Given the description of an element on the screen output the (x, y) to click on. 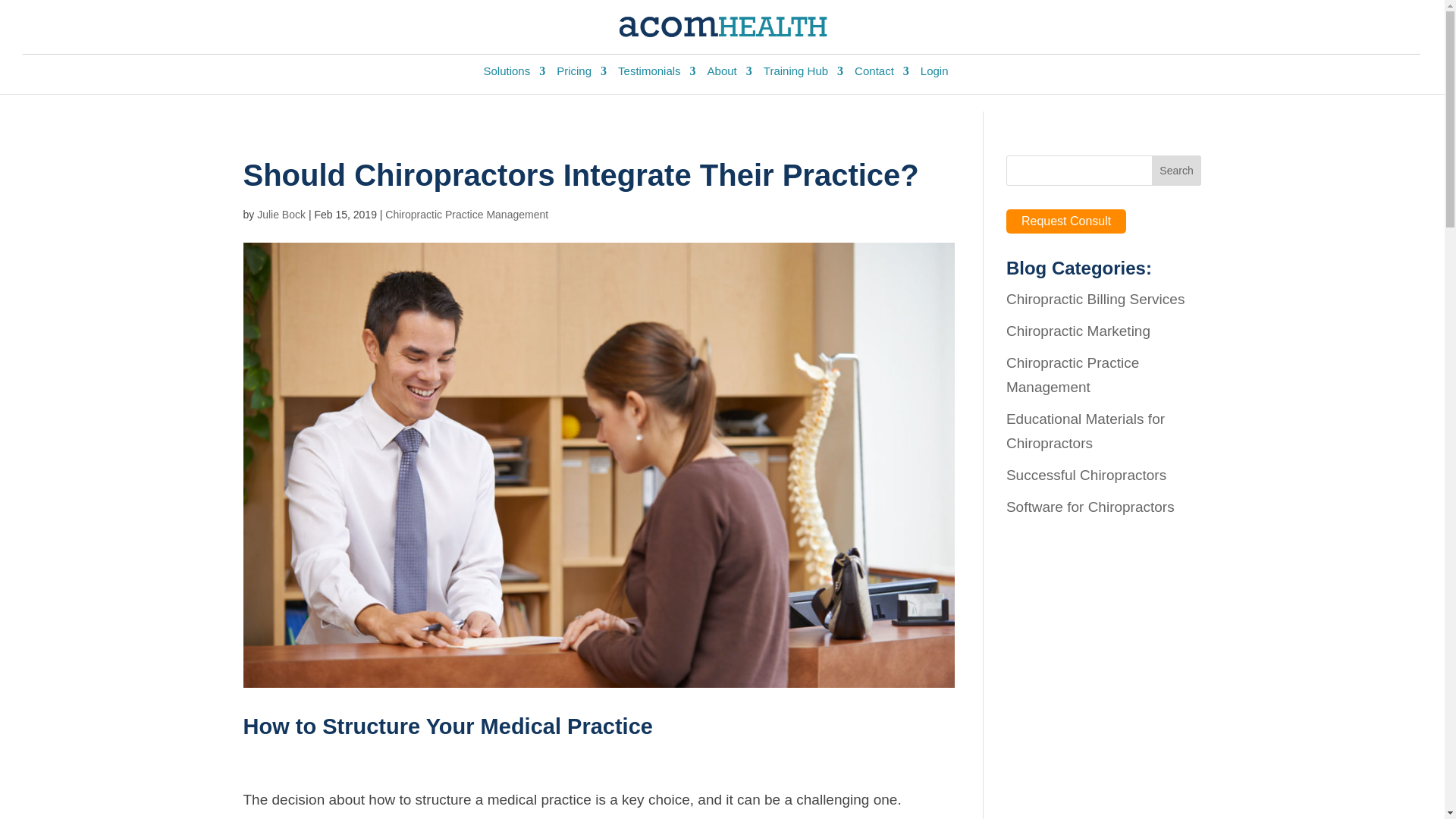
Contact (881, 76)
Pricing (581, 76)
Solutions (513, 76)
Search (1176, 170)
About (729, 76)
Login (934, 76)
Testimonials (656, 76)
Posts by Julie Bock (281, 214)
Training Hub (802, 76)
